Given the description of an element on the screen output the (x, y) to click on. 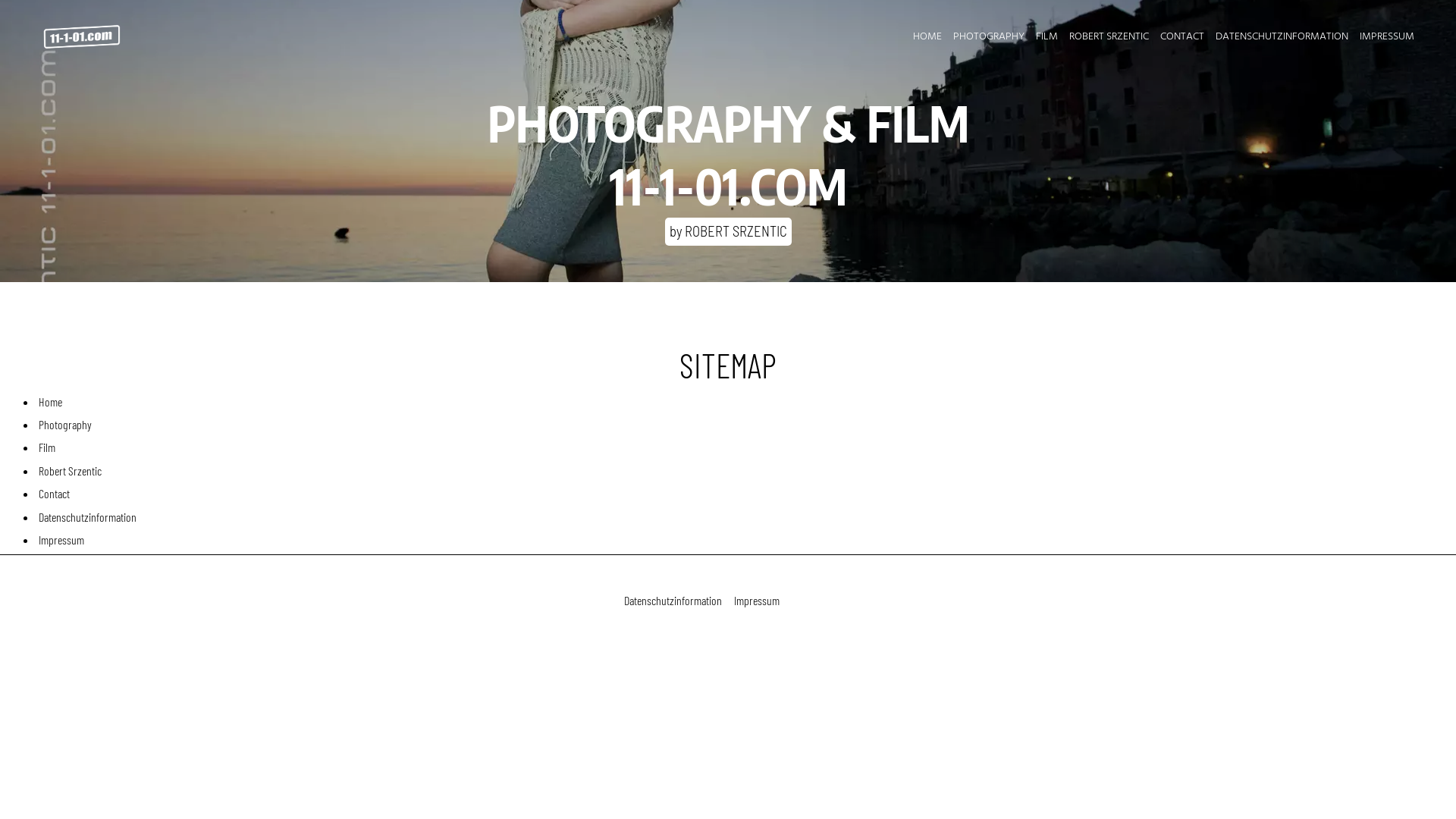
Datenschutzinformation Element type: text (672, 600)
PHOTOGRAPHY Element type: text (989, 36)
FILM Element type: text (1047, 36)
Datenschutzinformation Element type: text (742, 516)
Impressum Element type: text (742, 539)
Photography Element type: text (742, 424)
Contact Element type: text (742, 493)
DATENSCHUTZINFORMATION Element type: text (1281, 36)
IMPRESSUM Element type: text (1386, 36)
CONTACT Element type: text (1181, 36)
ROBERT SRZENTIC Element type: text (1108, 36)
HOME Element type: text (927, 36)
Film Element type: text (742, 447)
PHOTOGRAPHY & FILM
11-1-01.COM Element type: text (727, 122)
Home Element type: text (742, 401)
Impressum Element type: text (756, 600)
Robert Srzentic Element type: text (742, 470)
